Given the description of an element on the screen output the (x, y) to click on. 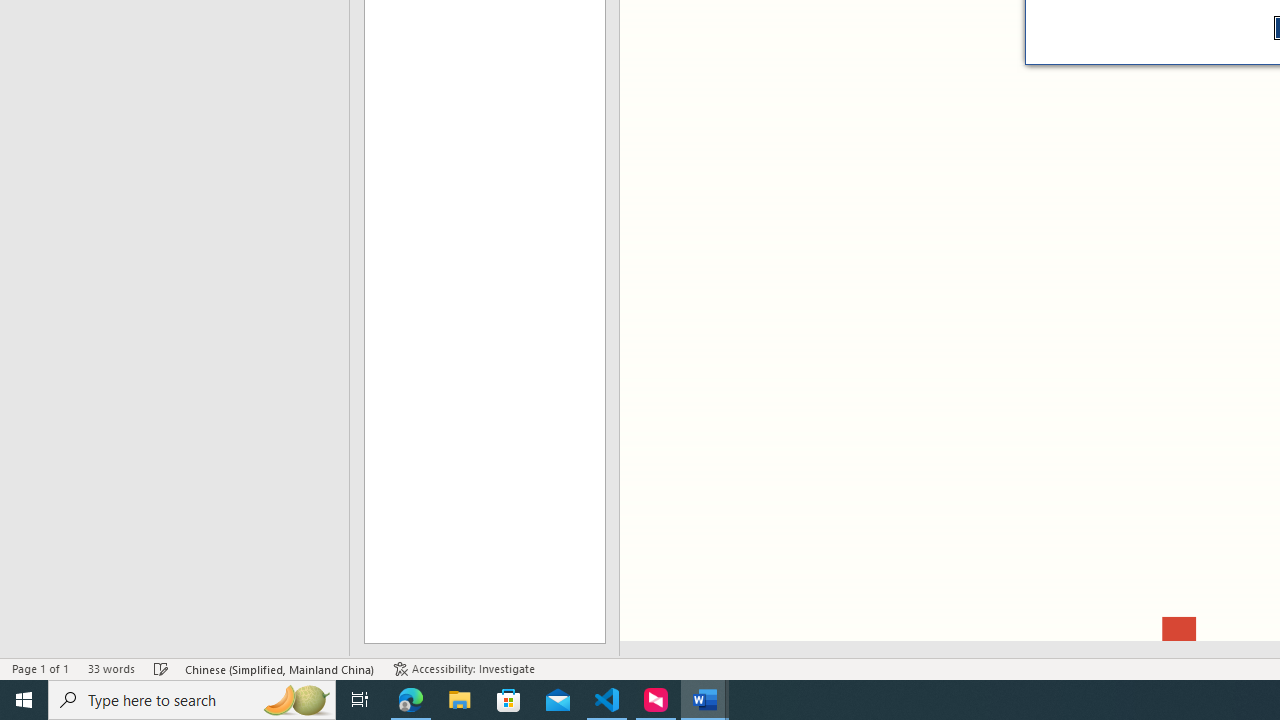
Word - 2 running windows (704, 699)
File Explorer (460, 699)
Page Number Page 1 of 1 (39, 668)
Microsoft Edge - 1 running window (411, 699)
